Given the description of an element on the screen output the (x, y) to click on. 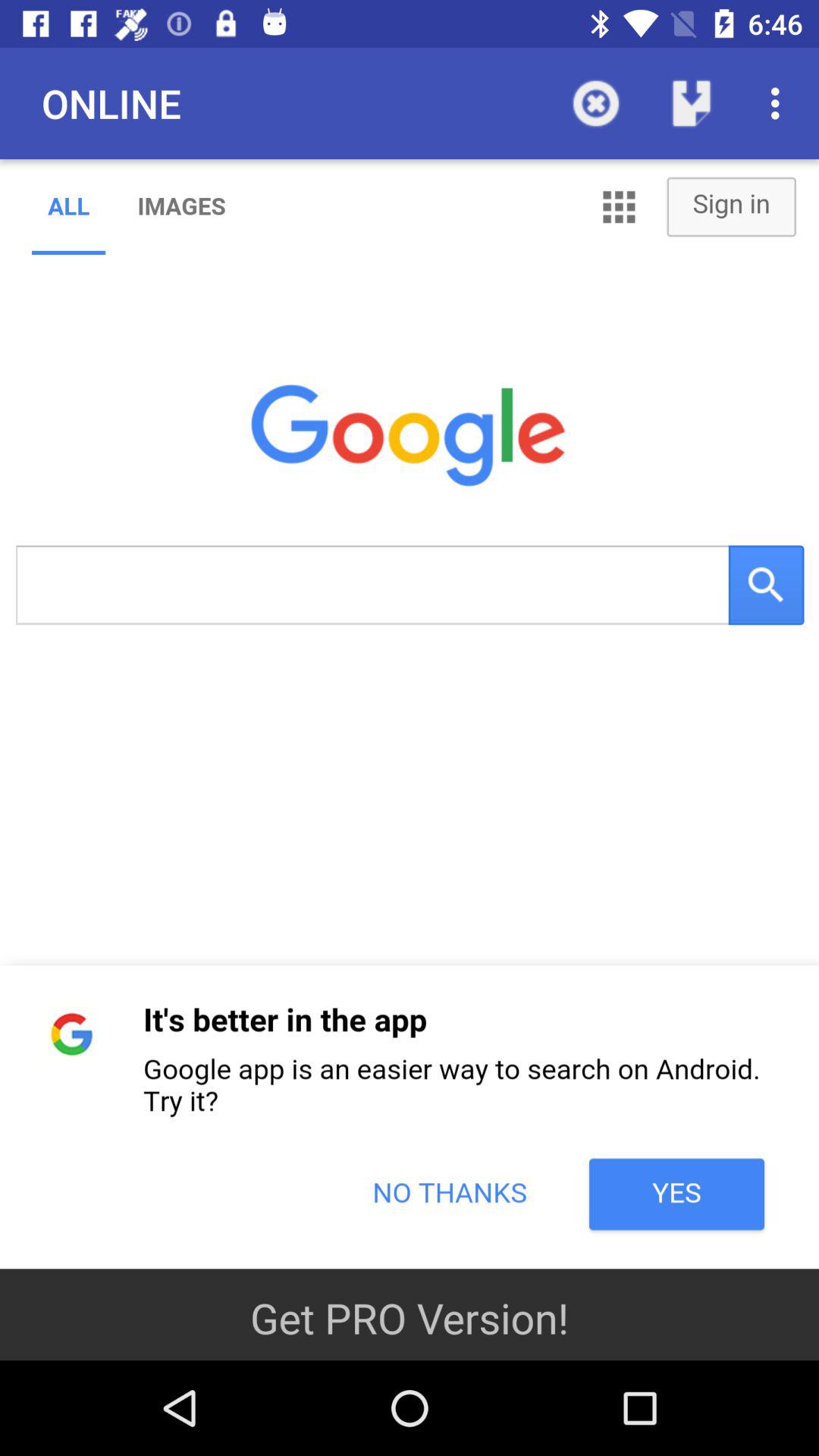
google (409, 713)
